Given the description of an element on the screen output the (x, y) to click on. 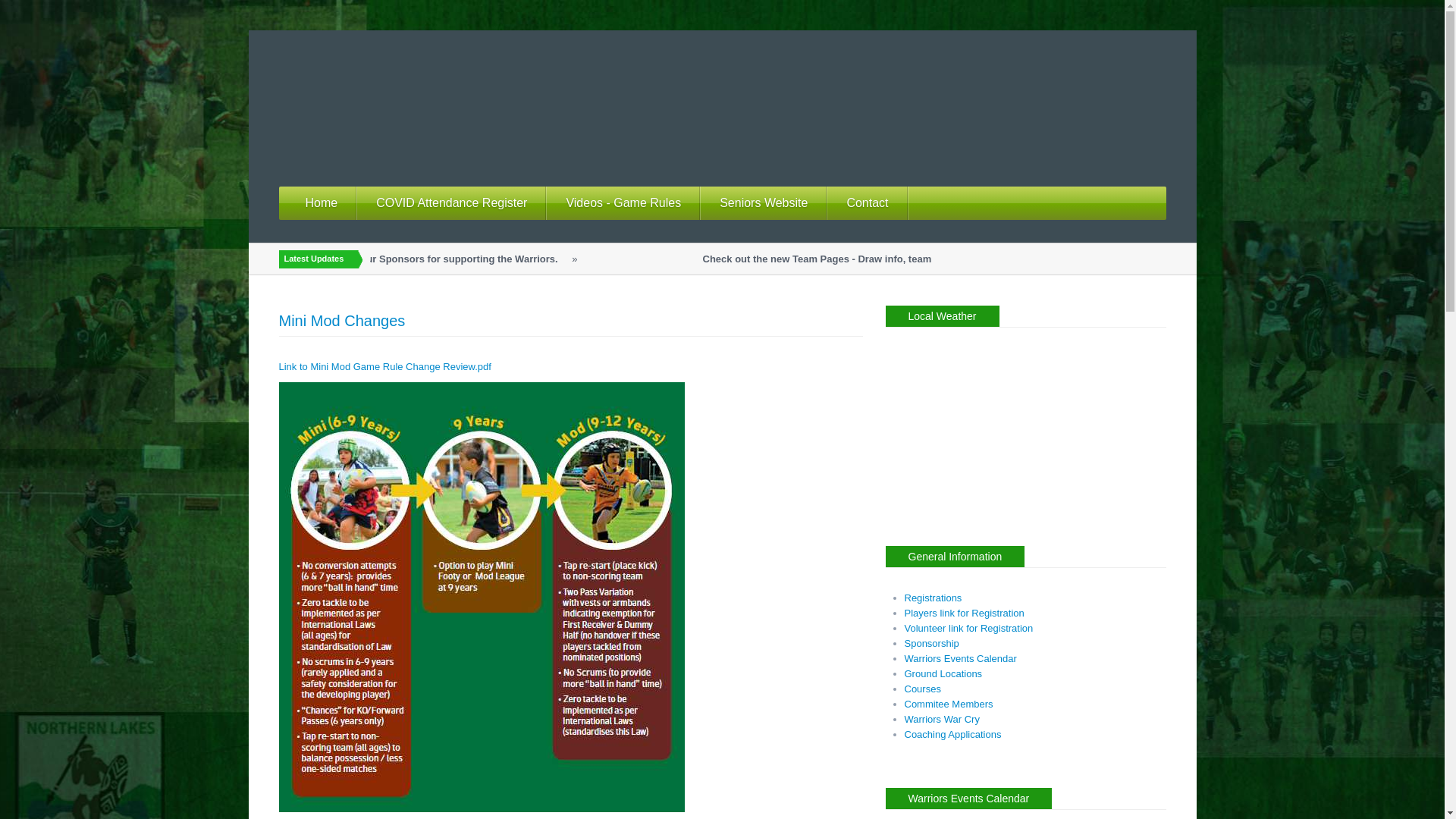
Sponsorship Element type: text (930, 643)
Warriors Events Calendar Element type: text (959, 658)
Videos - Game Rules Element type: text (623, 202)
Contact Element type: text (867, 202)
Warriors War Cry Element type: text (941, 718)
Volunteer link for Registration Element type: text (967, 627)
Home Element type: text (321, 202)
Thanks to all of our Sponsors for supporting the Warriors. Element type: text (450, 258)
Link to Mini Mod Game Rule Change Review.pdf Element type: text (385, 366)
Coaching Applications Element type: text (952, 734)
Registrations Element type: text (932, 597)
Ground Locations Element type: text (942, 673)
Lake Munmorah weather info Element type: text (979, 515)
Seniors Website Element type: text (763, 202)
Mini Mod Changes Element type: text (342, 320)
Players link for Registration Element type: text (963, 612)
Courses Element type: text (921, 688)
COVID Attendance Register Element type: text (451, 202)
Commitee Members Element type: text (947, 703)
